Given the description of an element on the screen output the (x, y) to click on. 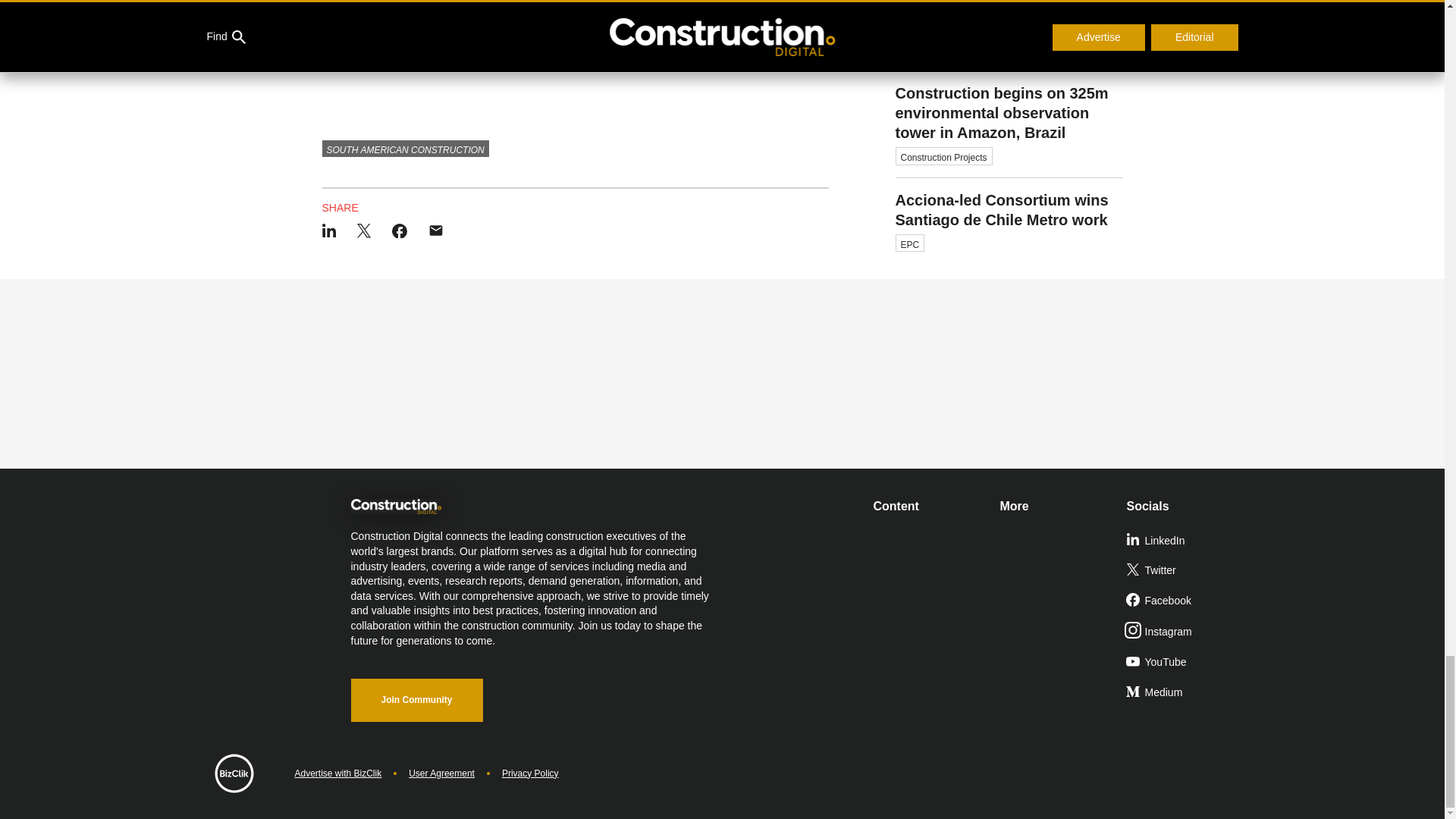
Privacy Policy (530, 773)
Join Community (415, 699)
Medium (1182, 693)
SOUTH AMERICAN CONSTRUCTION (404, 148)
Facebook (1182, 601)
LinkedIn (1182, 541)
Advertise with BizClik (337, 773)
Instagram (1182, 631)
Twitter (1182, 571)
User Agreement (441, 773)
YouTube (1182, 662)
